Given the description of an element on the screen output the (x, y) to click on. 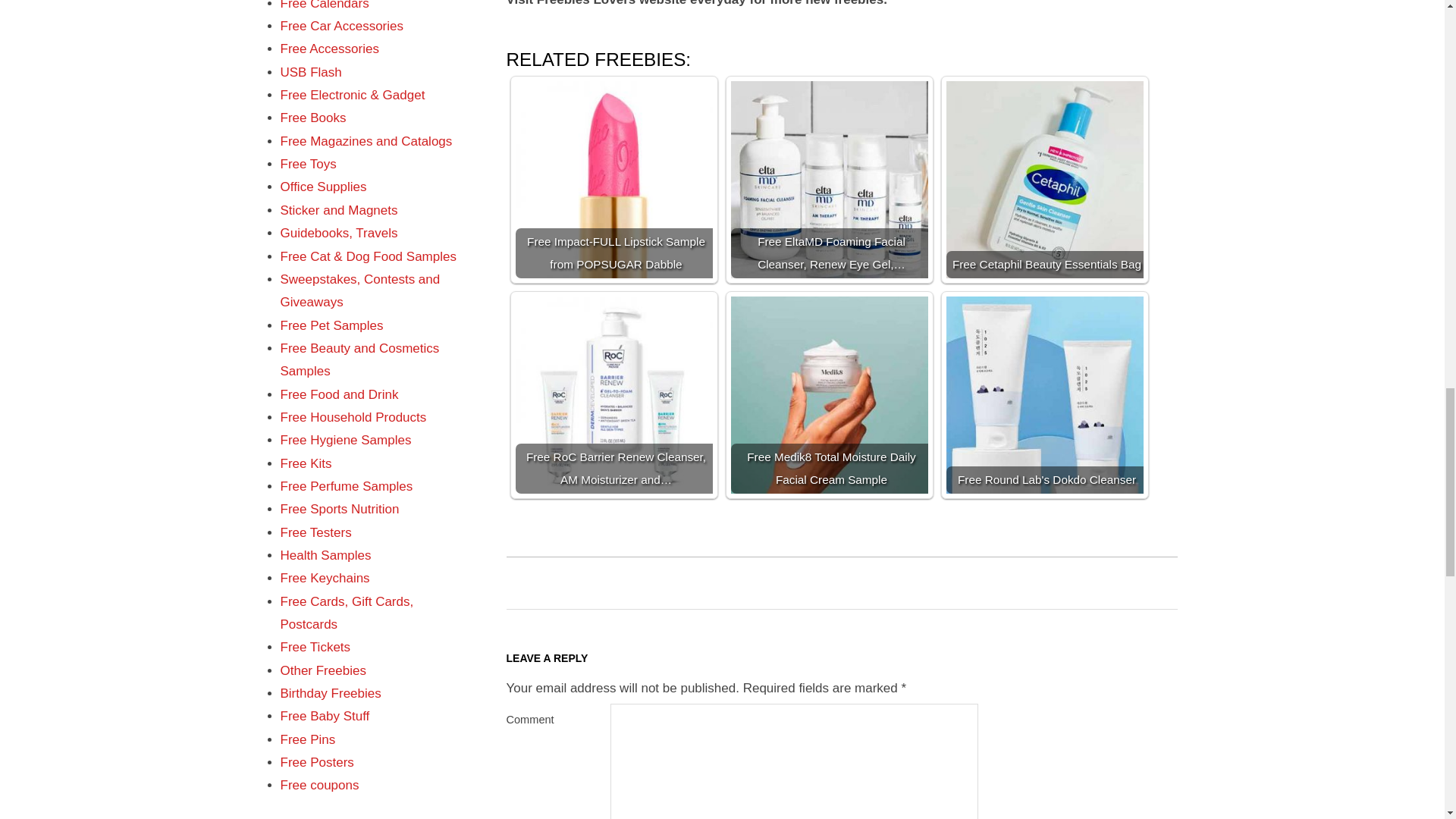
Free Medik8 Total Moisture Daily Facial Cream Sample (829, 394)
Free Round Lab's Dokdo Cleanser (1044, 394)
Free Calendars (325, 5)
Free Cetaphil Beauty Essentials Bag (1044, 179)
Free Cetaphil Beauty Essentials Bag (1044, 179)
Free Medik8 Total Moisture Daily Facial Cream Sample (829, 394)
Free Impact-FULL Lipstick Sample from POPSUGAR Dabble (614, 179)
Free Round Lab's Dokdo Cleanser (1044, 394)
Free Impact-FULL Lipstick Sample from POPSUGAR Dabble (614, 179)
